Given the description of an element on the screen output the (x, y) to click on. 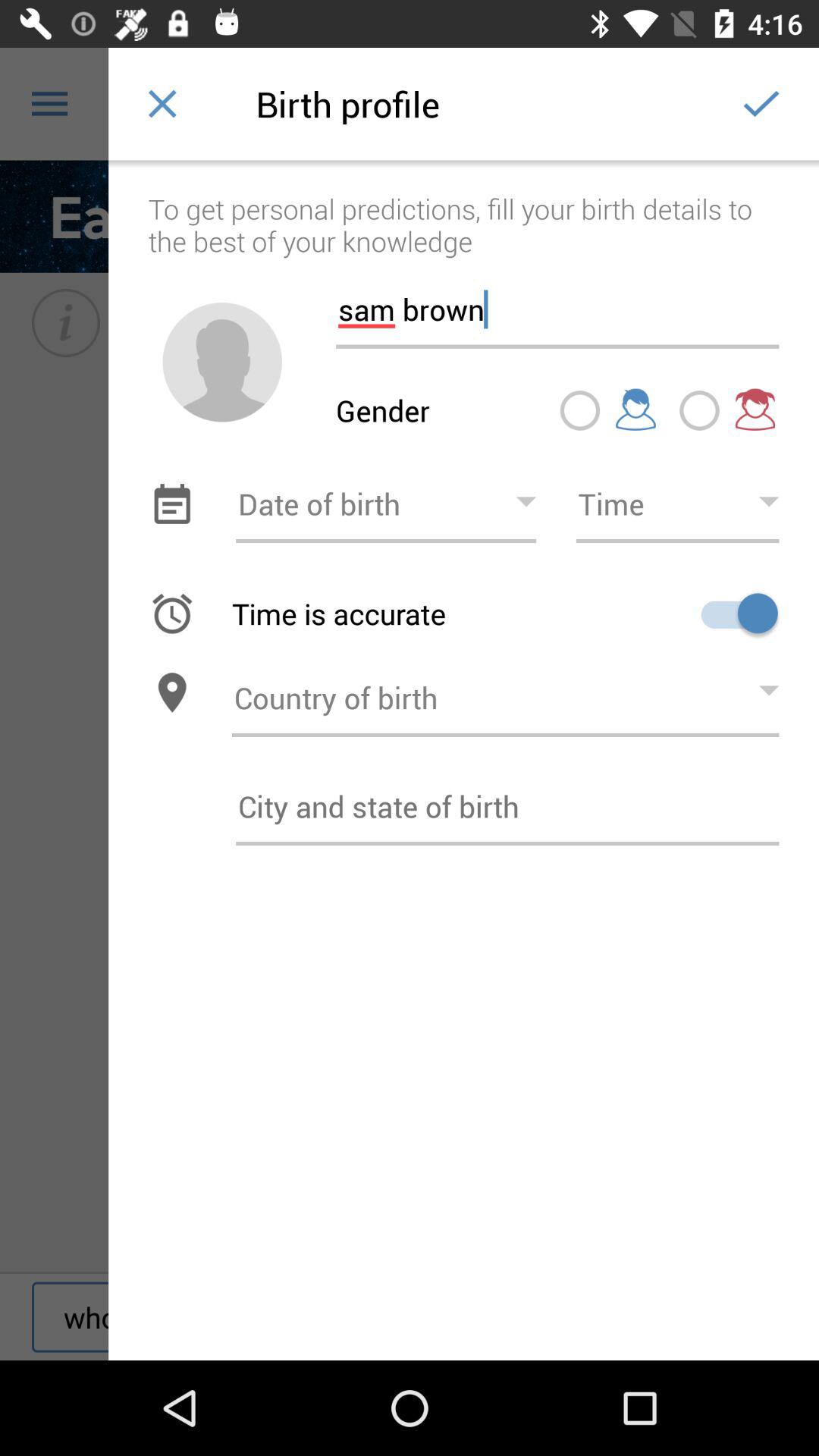
choose date of birth (386, 503)
